Given the description of an element on the screen output the (x, y) to click on. 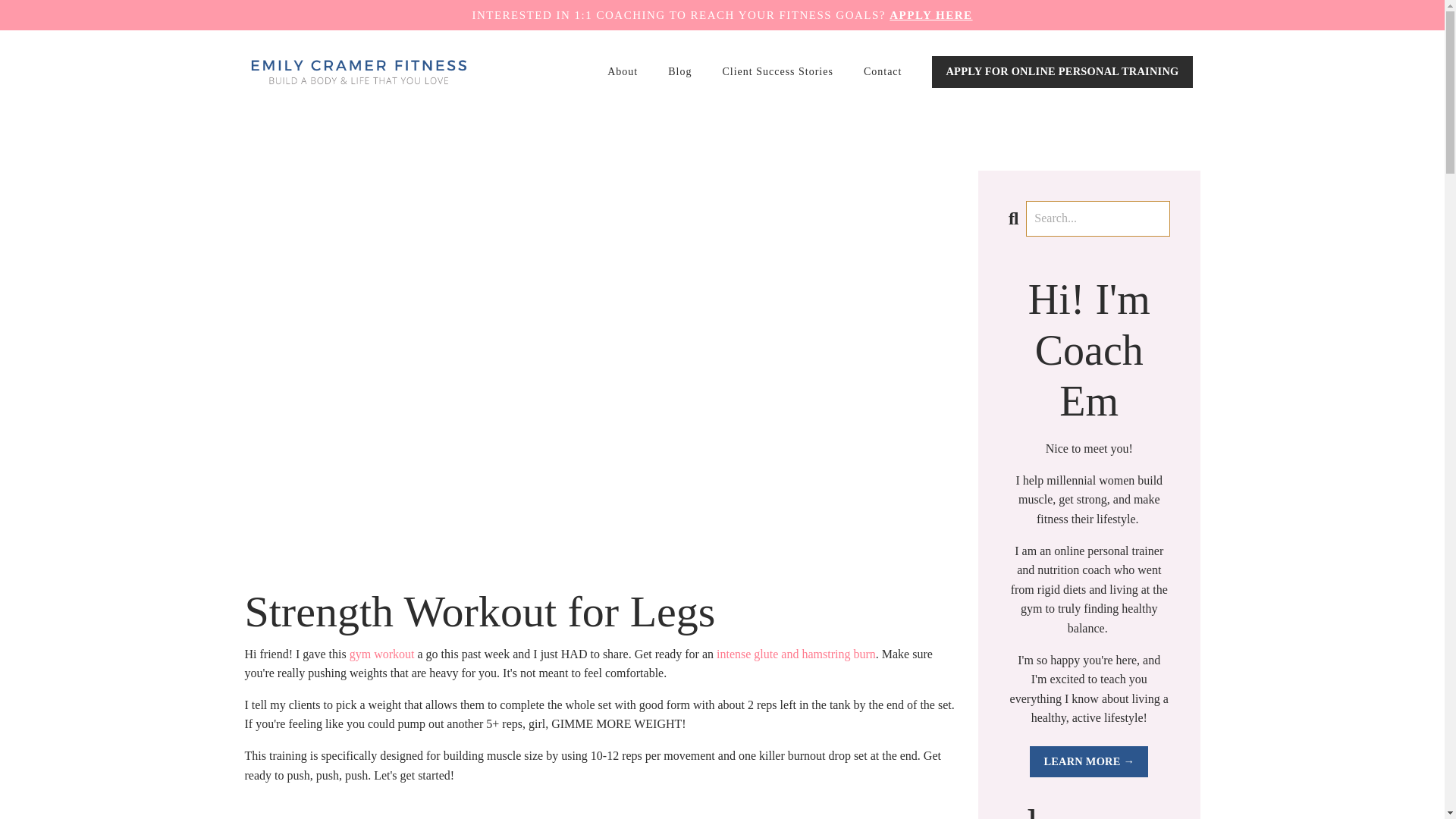
About (622, 71)
gym workout (381, 653)
APPLY FOR ONLINE PERSONAL TRAINING (1061, 71)
Contact (882, 71)
Intense Full Body Workout at the Gym (381, 653)
intense glute and hamstring burn (796, 653)
Blog (679, 71)
Client Success Stories (777, 71)
Upgrade Your Leg Workout with These 5 Moves (796, 653)
